Given the description of an element on the screen output the (x, y) to click on. 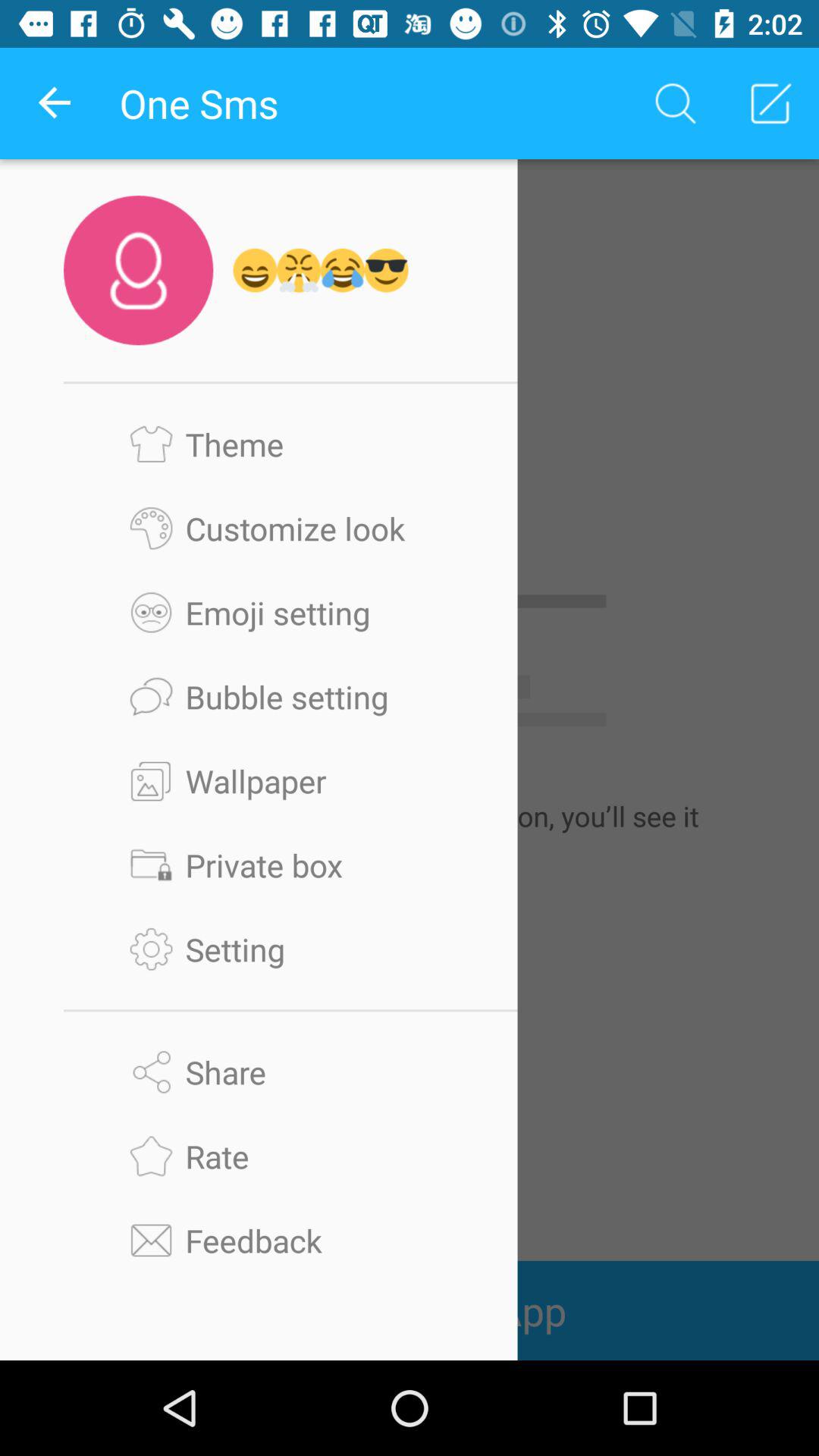
select the second icon at top right corner (771, 103)
select the text which is immediately below the emoji setting (290, 695)
click on customize look (290, 528)
click on setting options (290, 949)
click on the user icon (137, 270)
select the option wallpaper on a page (290, 780)
